Given the description of an element on the screen output the (x, y) to click on. 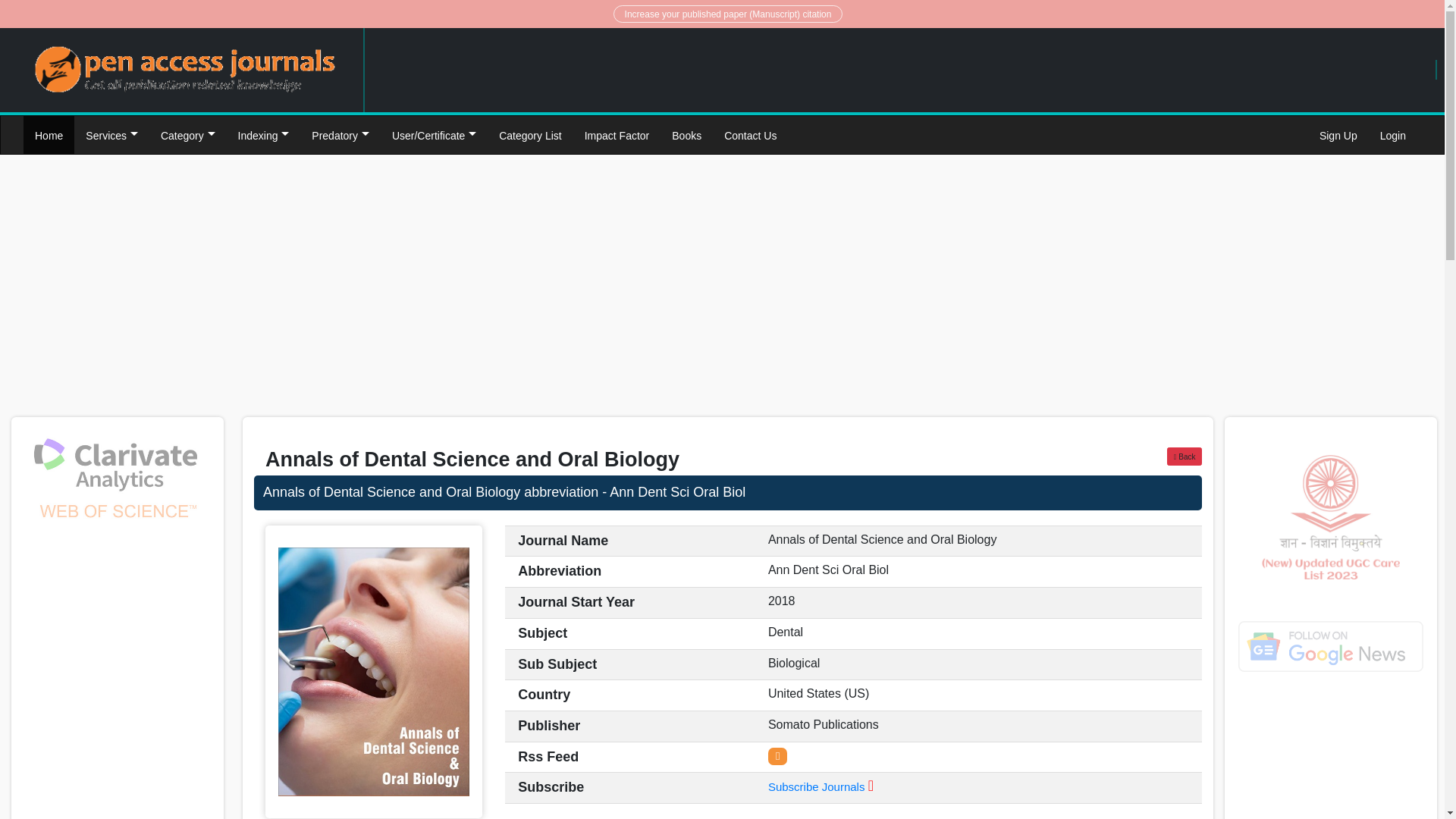
Predatory (339, 134)
ugc care approved journals list (1330, 645)
Advertisement (966, 293)
Open access journals (185, 68)
Annals of Dental Science and Oral Biology (727, 492)
ugc care approved journals list (1330, 517)
Services (111, 134)
Home (48, 134)
Indexing (264, 134)
wos journals list (117, 480)
Click here for go back (1184, 456)
Advertisement (1330, 756)
Open access journals (185, 69)
Advertisement (489, 293)
Category (188, 134)
